Given the description of an element on the screen output the (x, y) to click on. 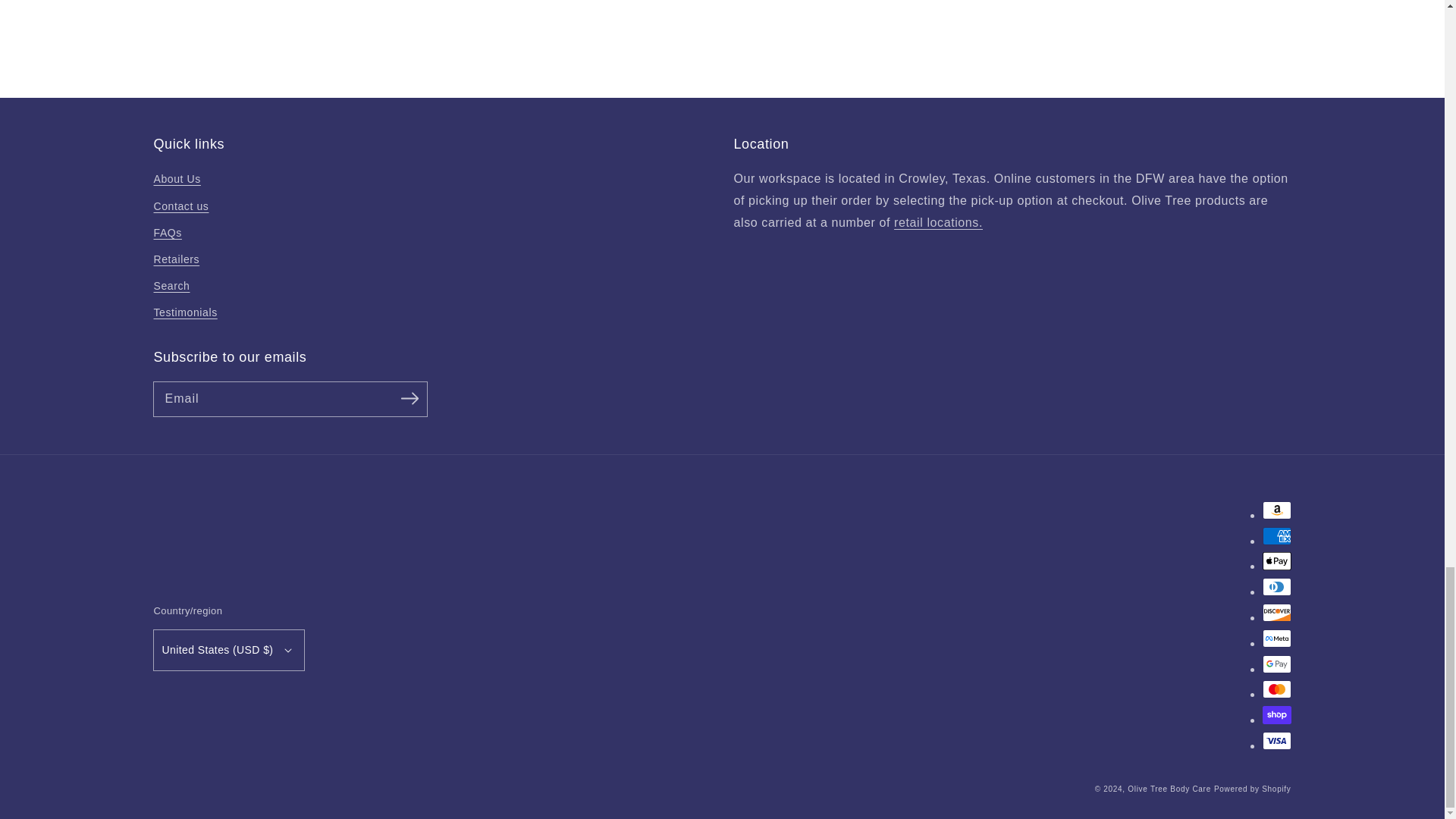
Amazon (1276, 510)
Retailers (937, 222)
